Given the description of an element on the screen output the (x, y) to click on. 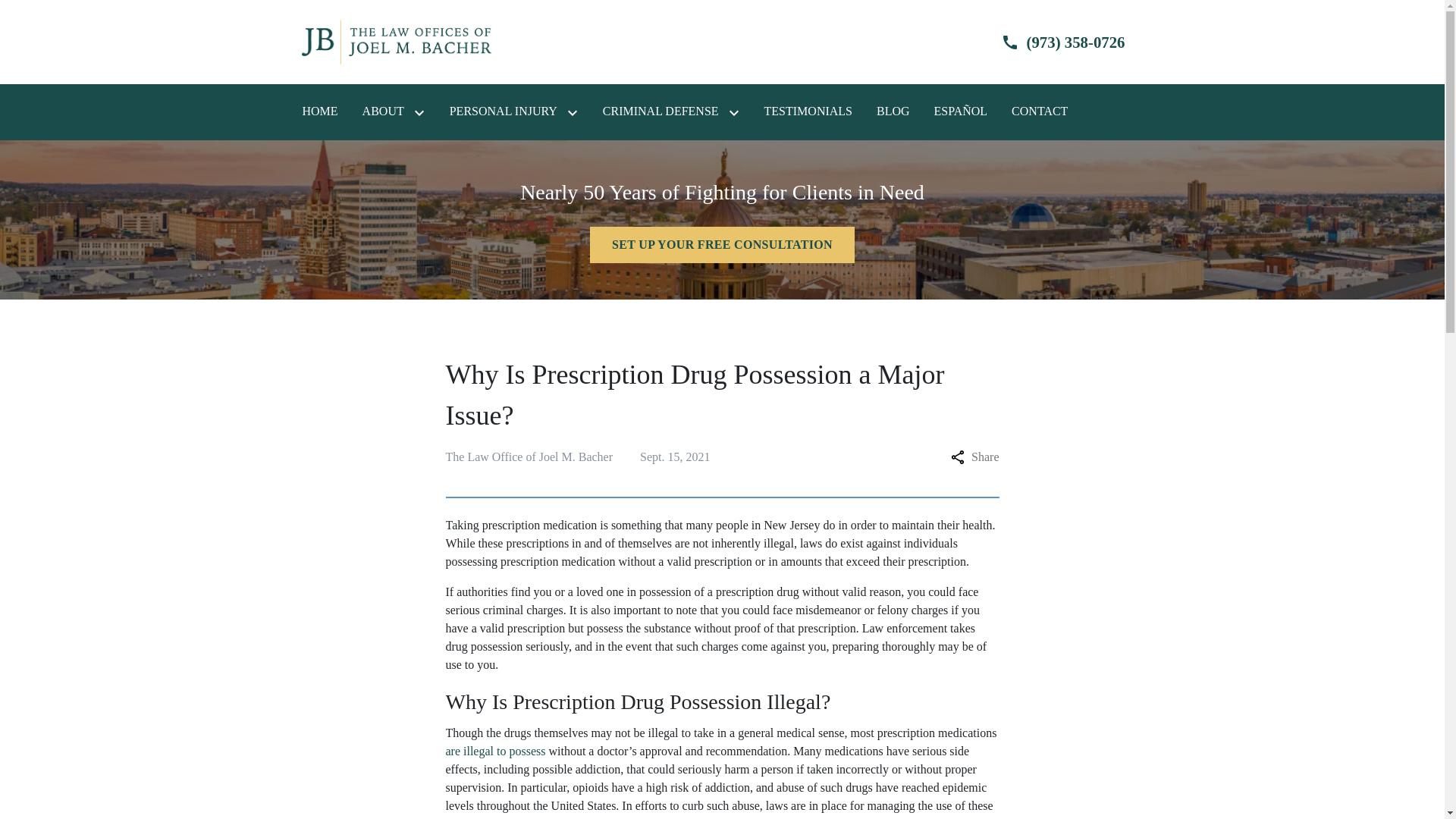
ABOUT (383, 111)
HOME (319, 111)
CRIMINAL DEFENSE (660, 111)
PERSONAL INJURY (503, 111)
